Given the description of an element on the screen output the (x, y) to click on. 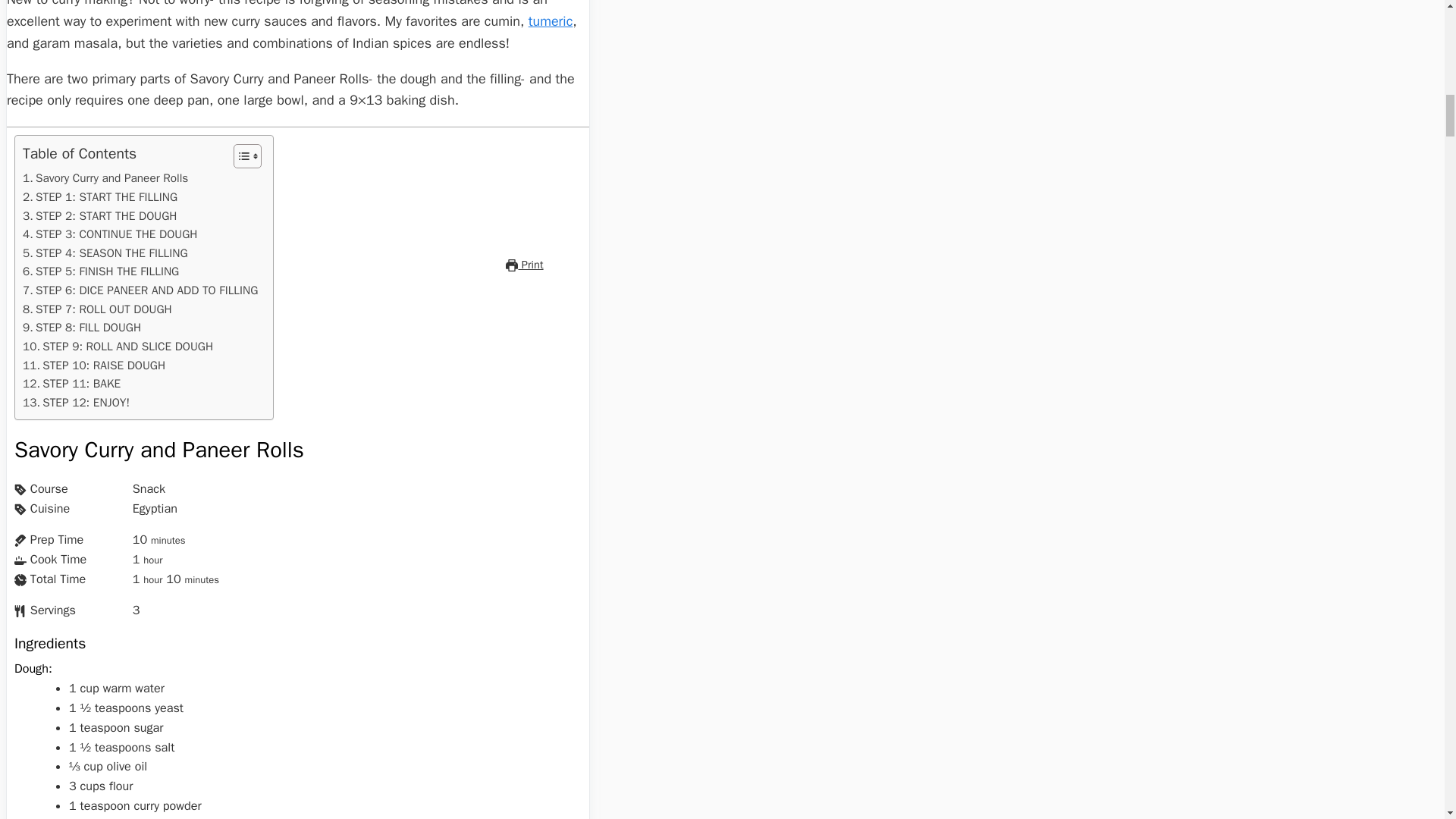
STEP 10: RAISE DOUGH (94, 365)
STEP 11: BAKE (71, 383)
STEP 4: SEASON THE FILLING (105, 253)
STEP 7: ROLL OUT DOUGH (97, 309)
STEP 8: FILL DOUGH (82, 327)
STEP 8: FILL DOUGH (82, 327)
Print (524, 264)
tumeric (550, 21)
STEP 5: FINISH THE FILLING (101, 271)
STEP 3: CONTINUE THE DOUGH (109, 234)
Savory Curry and Paneer Rolls (105, 178)
STEP 9: ROLL AND SLICE DOUGH (117, 346)
STEP 2: START THE DOUGH (99, 216)
STEP 7: ROLL OUT DOUGH (97, 309)
Savory Curry and Paneer Rolls (105, 178)
